Given the description of an element on the screen output the (x, y) to click on. 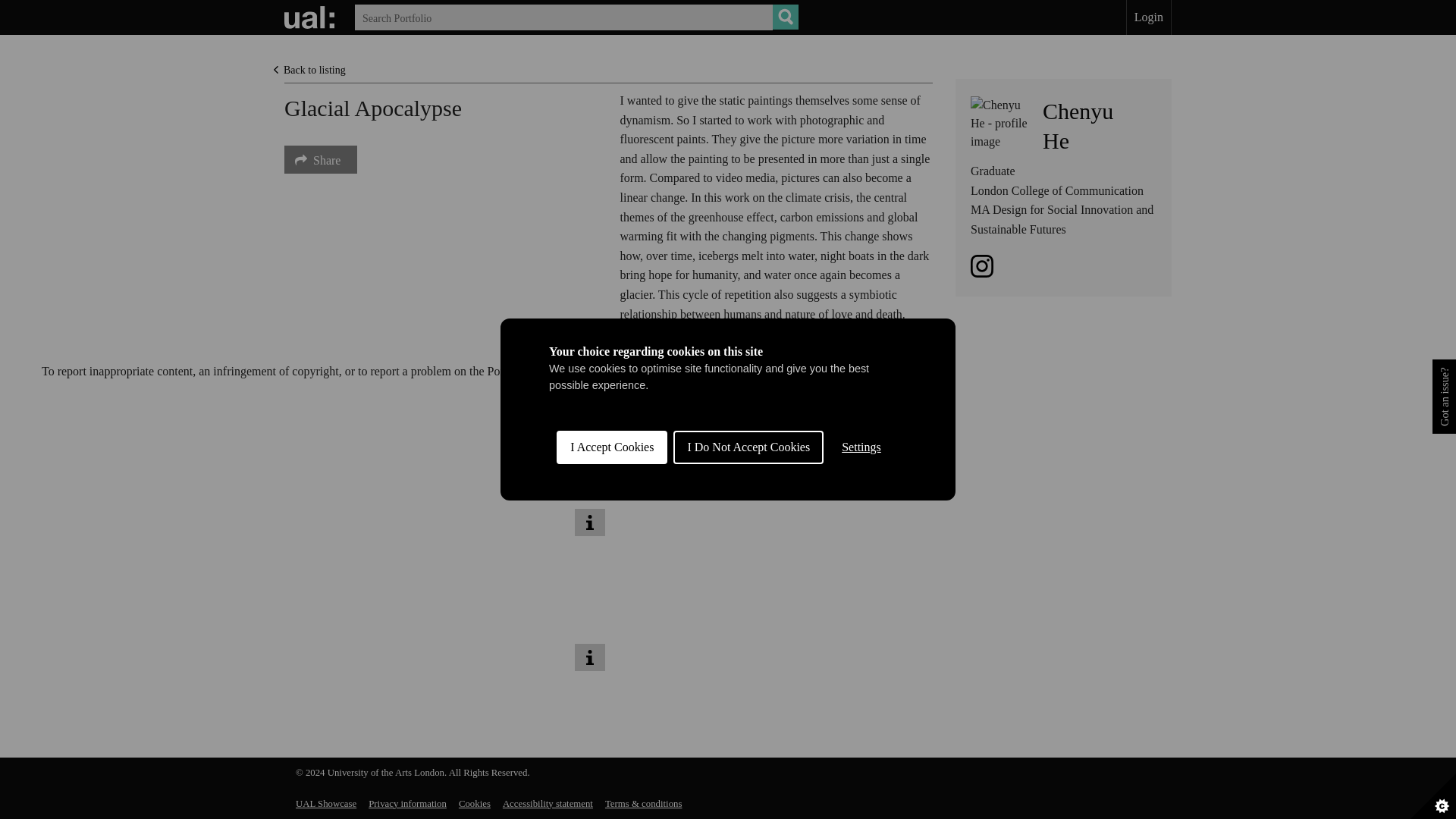
UAL: Portfolio (311, 16)
Digital Team (701, 370)
Back to listing (309, 70)
Search (1077, 125)
Search (785, 17)
Glacial Apocalypse (785, 17)
I Do Not Accept Cookies (438, 448)
Cookies (748, 621)
Keywords (474, 803)
